Given the description of an element on the screen output the (x, y) to click on. 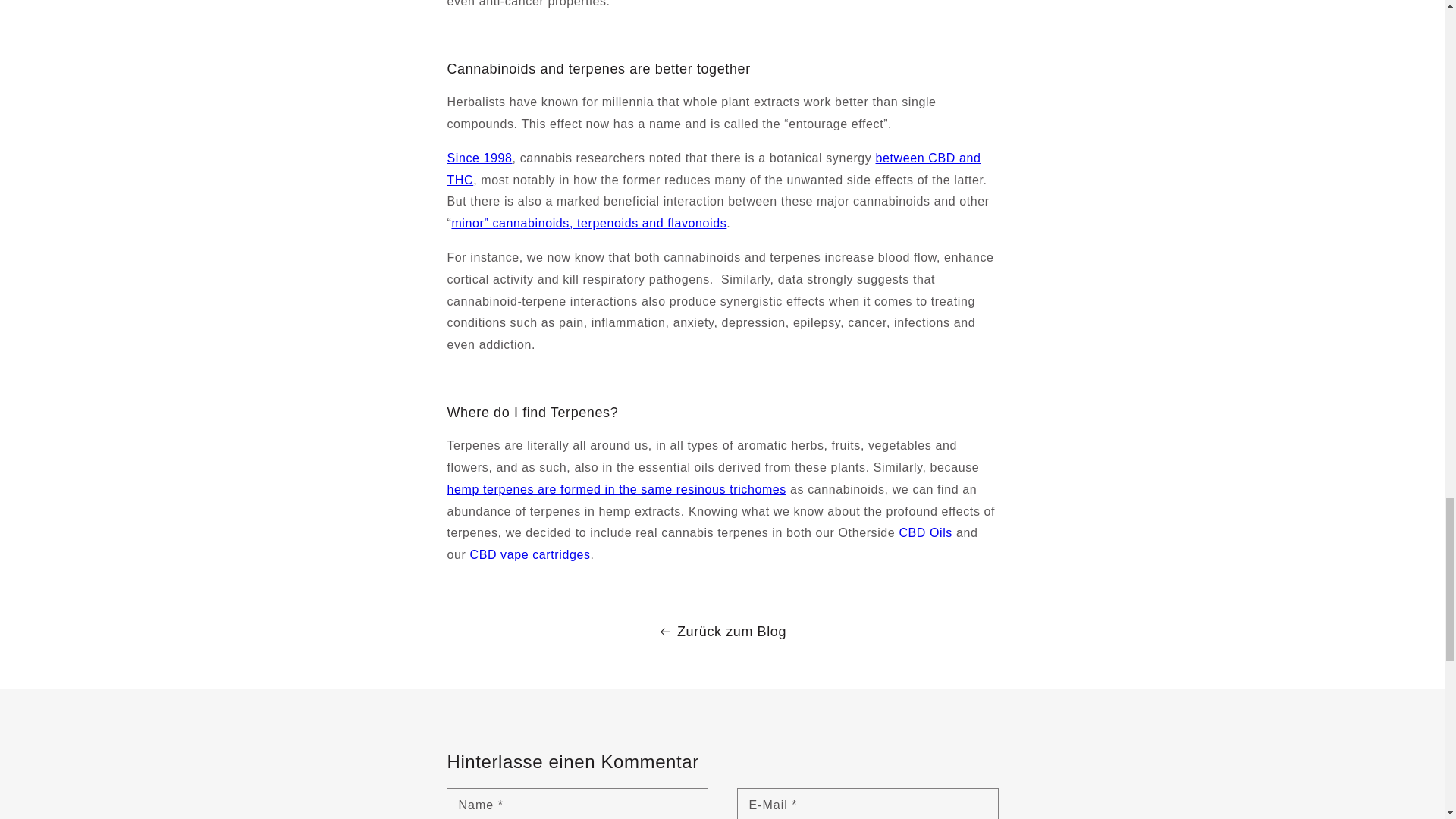
CBD Oils (925, 532)
CBD Vape Cartridges (528, 554)
